Given the description of an element on the screen output the (x, y) to click on. 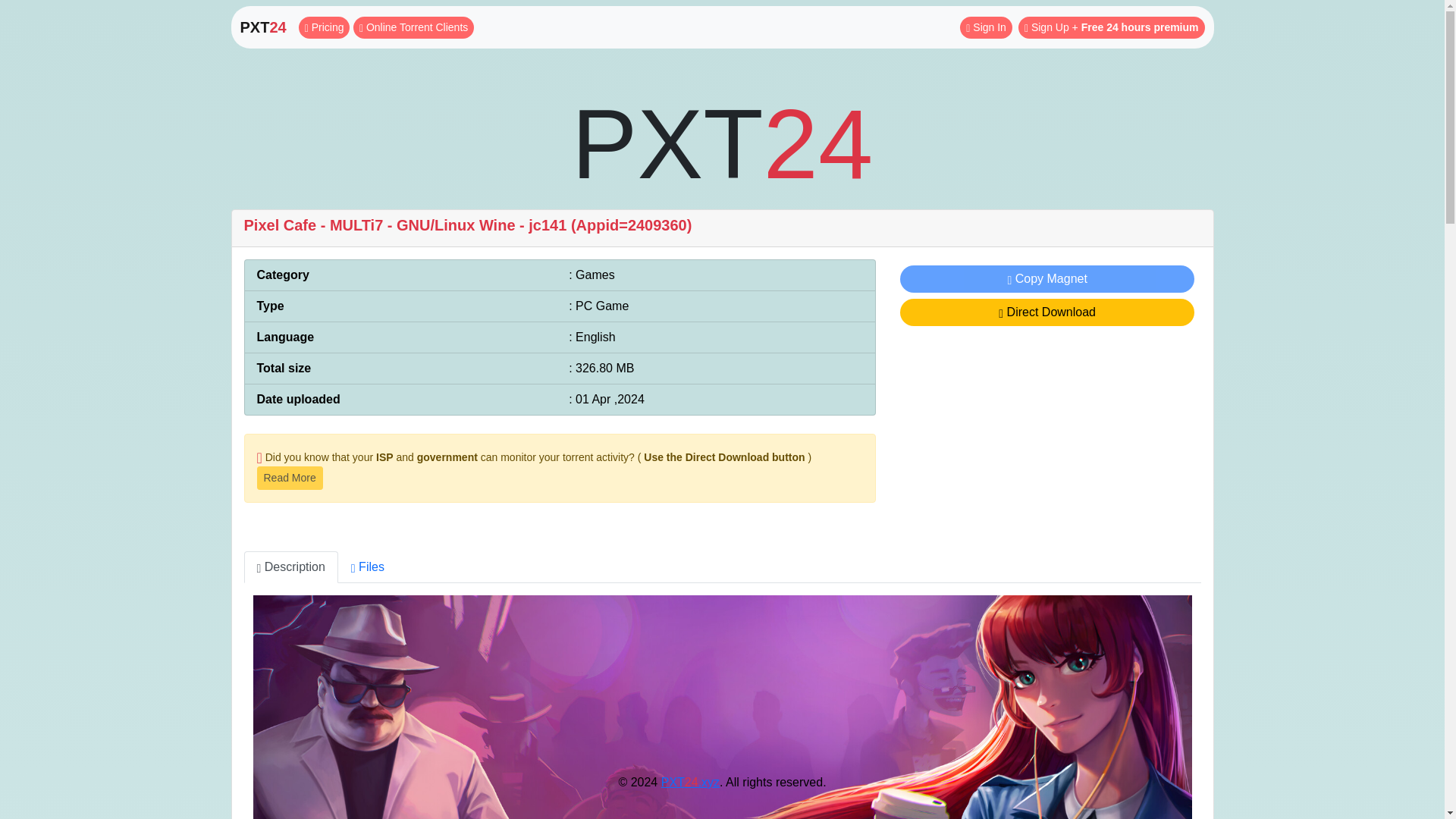
Read More (288, 477)
Pricing (324, 27)
Direct Download (1047, 311)
Online Torrent Clients (413, 27)
Description (290, 567)
Files (367, 567)
PXT24 (262, 27)
Copy Magnet (1047, 278)
Sign In (985, 27)
PXT24 (721, 144)
